Given the description of an element on the screen output the (x, y) to click on. 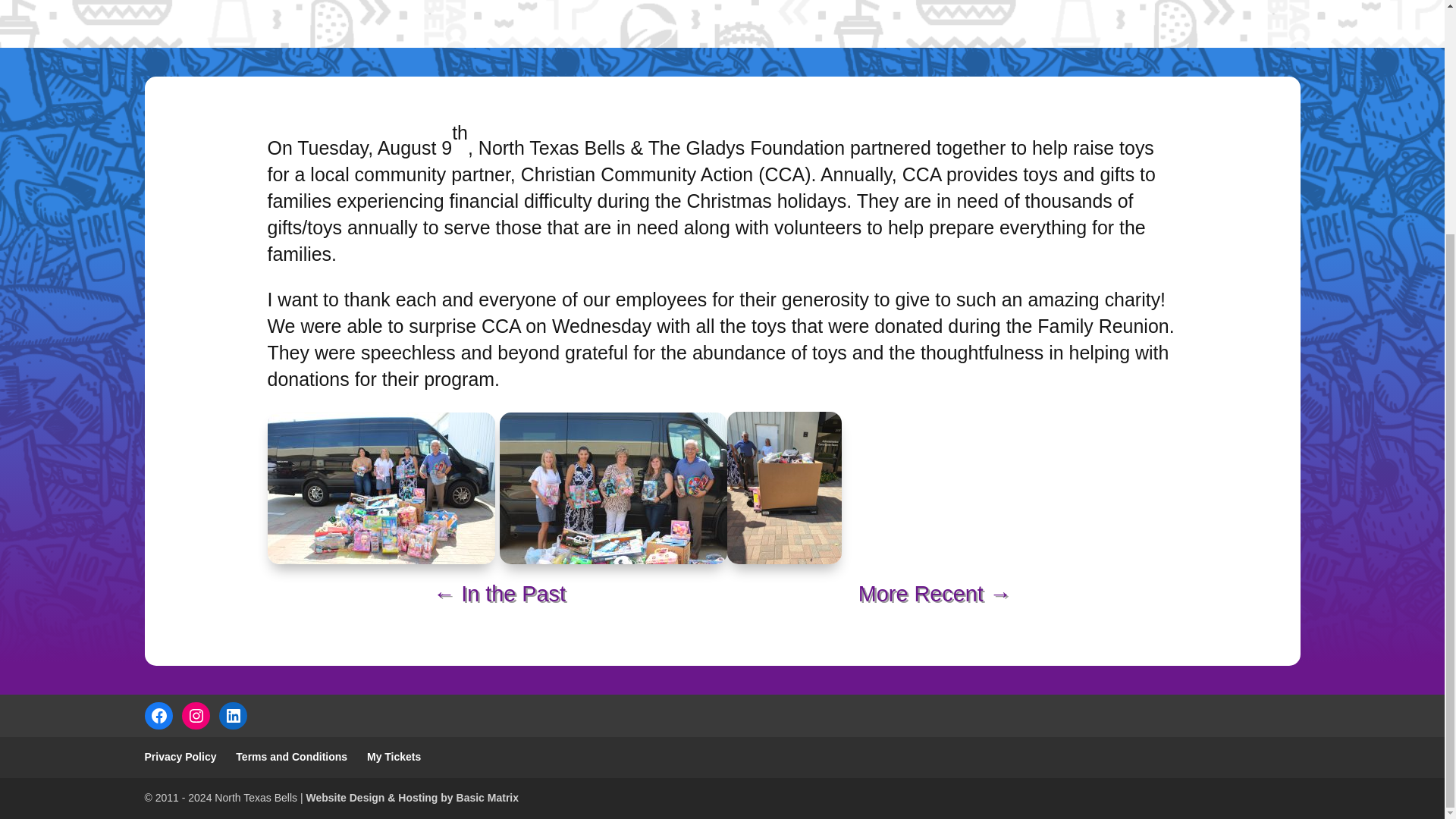
My Tickets (393, 756)
LinkedIn (233, 715)
Facebook (159, 715)
Instagram (195, 715)
Terms and Conditions (291, 756)
Privacy Policy (179, 756)
